Given the description of an element on the screen output the (x, y) to click on. 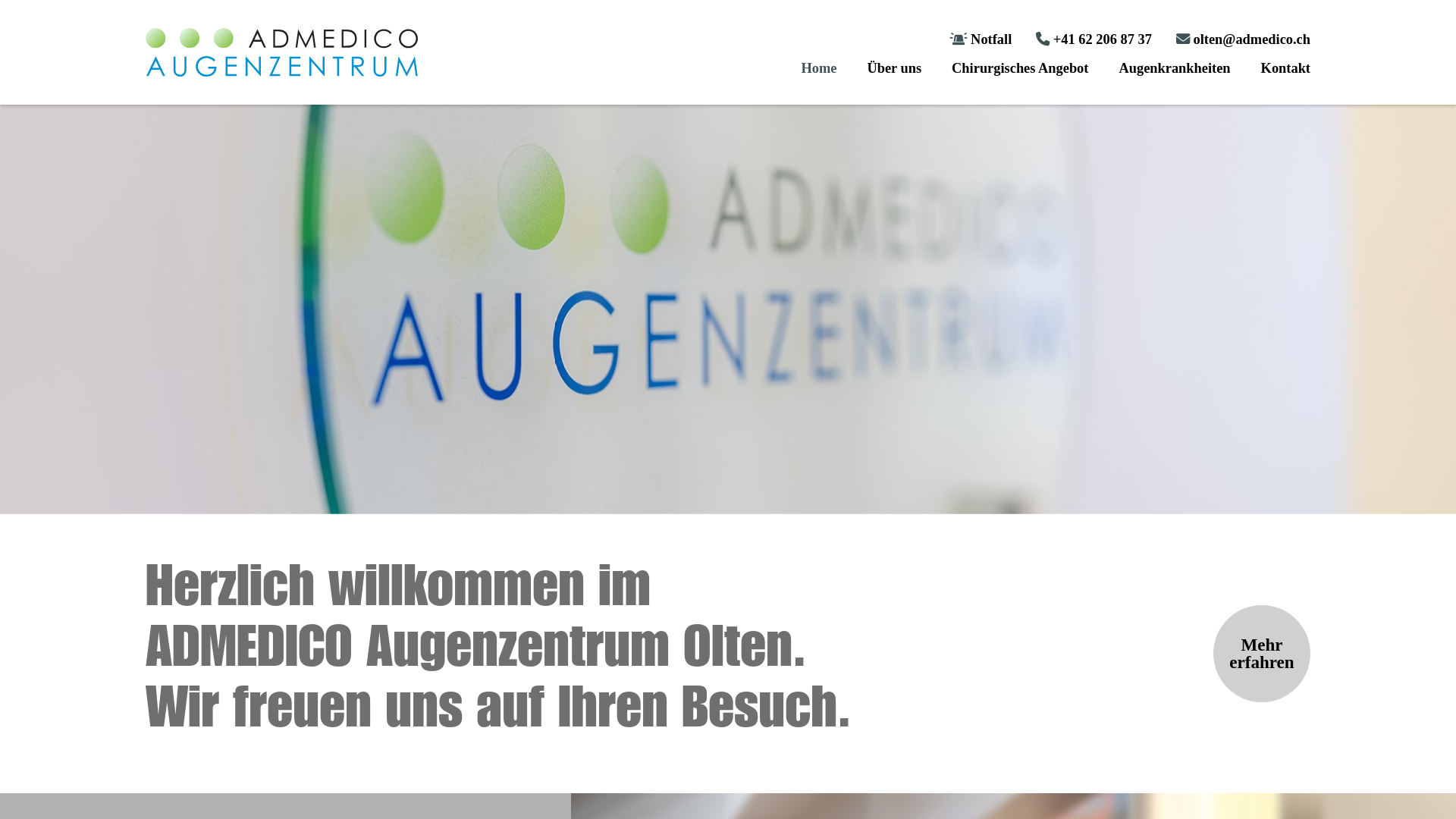
Mehr erfahren Element type: text (1261, 653)
+41 62 206 87 37 Element type: text (1093, 39)
olten@admedico.ch Element type: text (1243, 39)
Home Element type: text (818, 67)
Notfall Element type: text (980, 39)
Kontakt Element type: text (1285, 67)
Augenkrankheiten Element type: text (1174, 67)
Chirurgisches Angebot Element type: text (1019, 67)
